Given the description of an element on the screen output the (x, y) to click on. 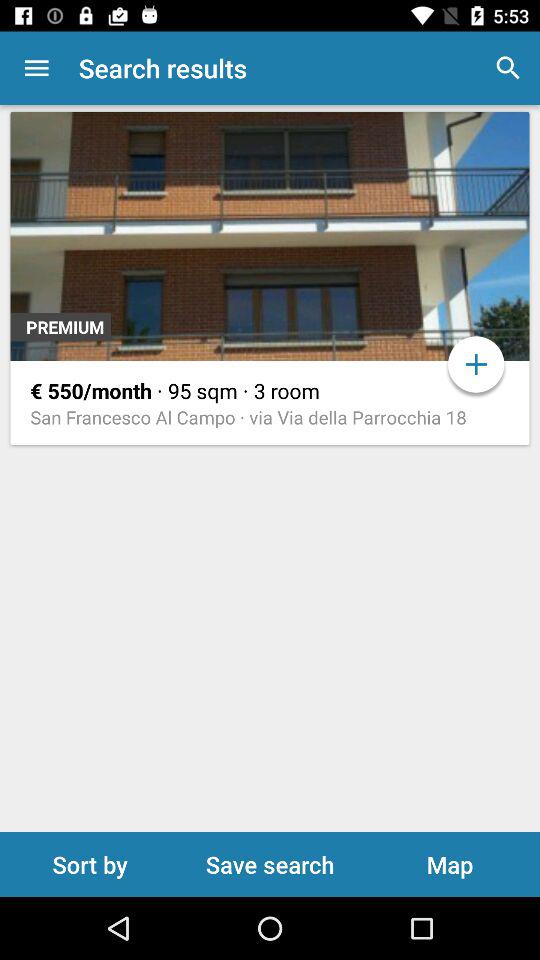
turn on icon below san francesco al item (90, 863)
